Given the description of an element on the screen output the (x, y) to click on. 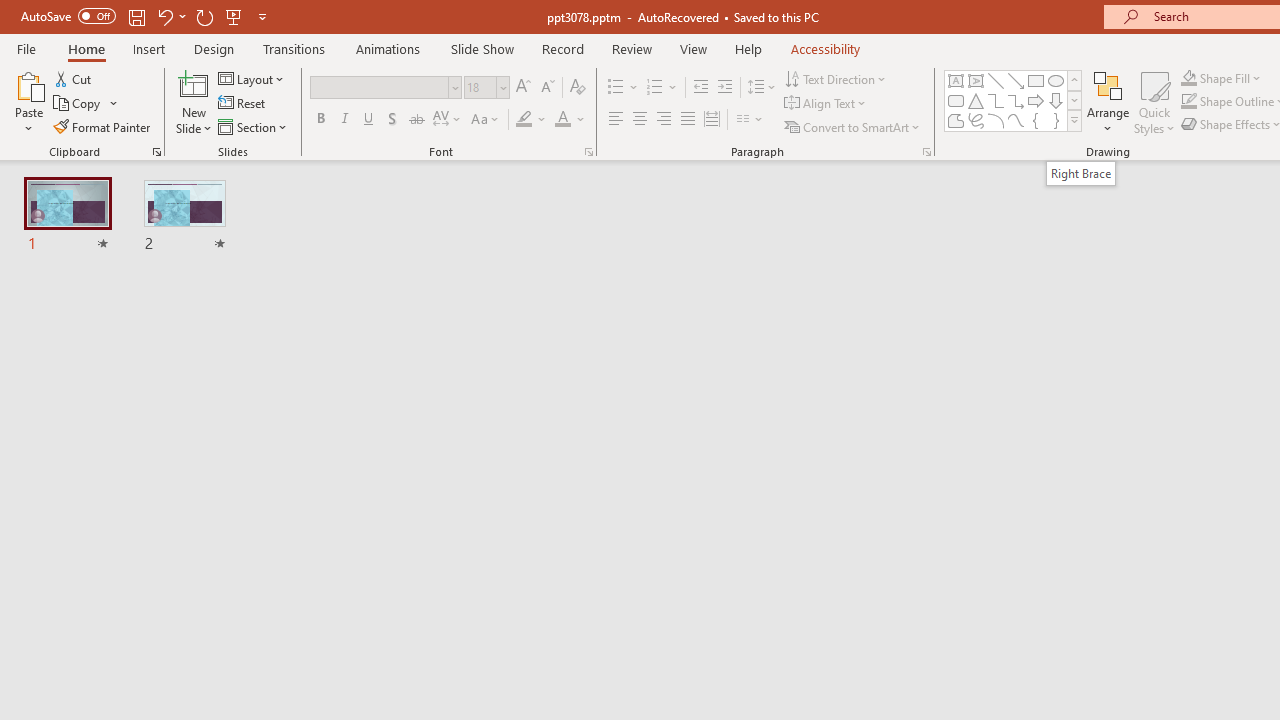
Shape Outline Green, Accent 1 (1188, 101)
